Given the description of an element on the screen output the (x, y) to click on. 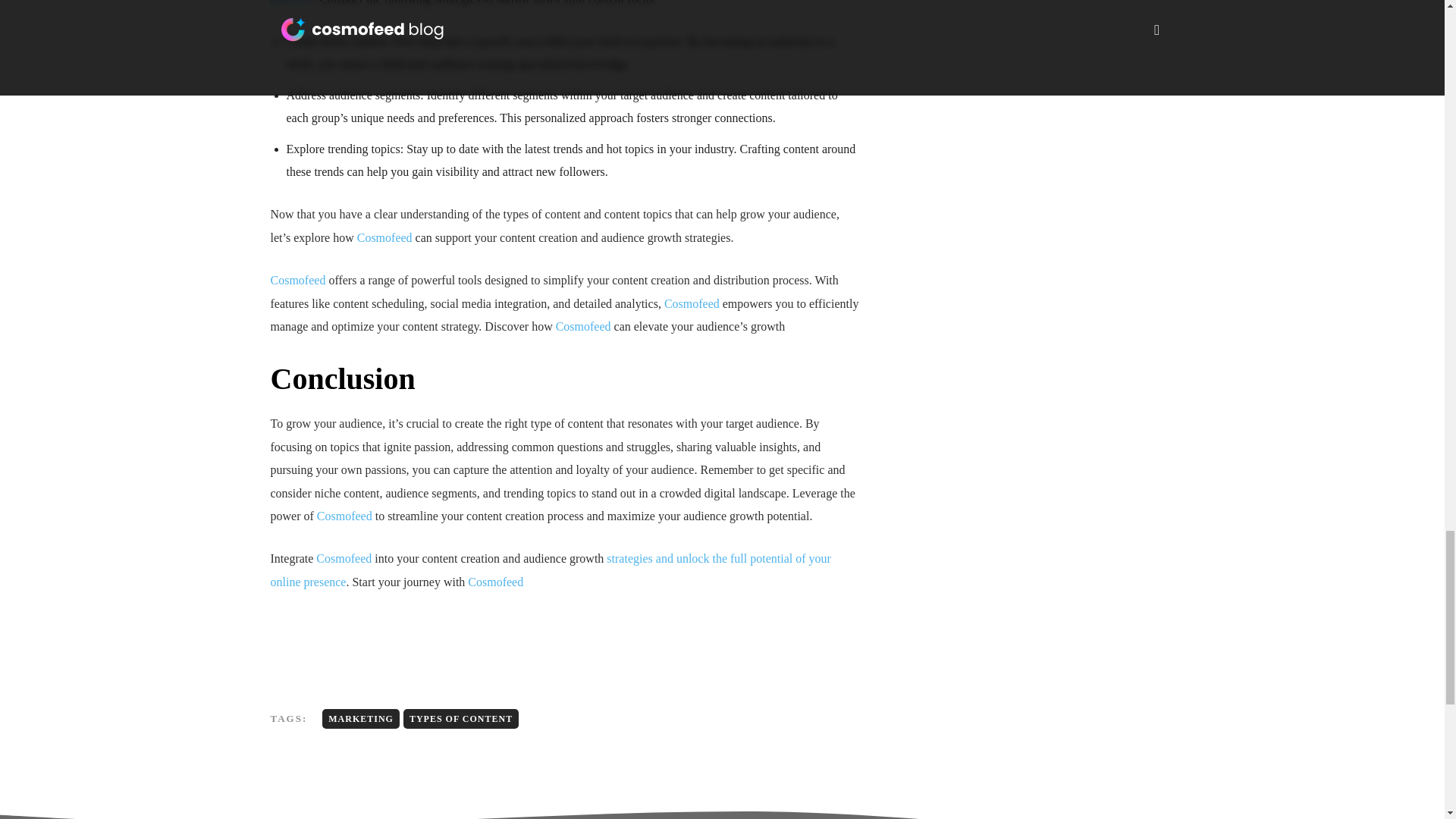
Cosmofeed (691, 303)
Cosmofeed (344, 515)
Cosmofeed (296, 279)
Cosmofeed (384, 237)
Cosmofeed (583, 326)
